Given the description of an element on the screen output the (x, y) to click on. 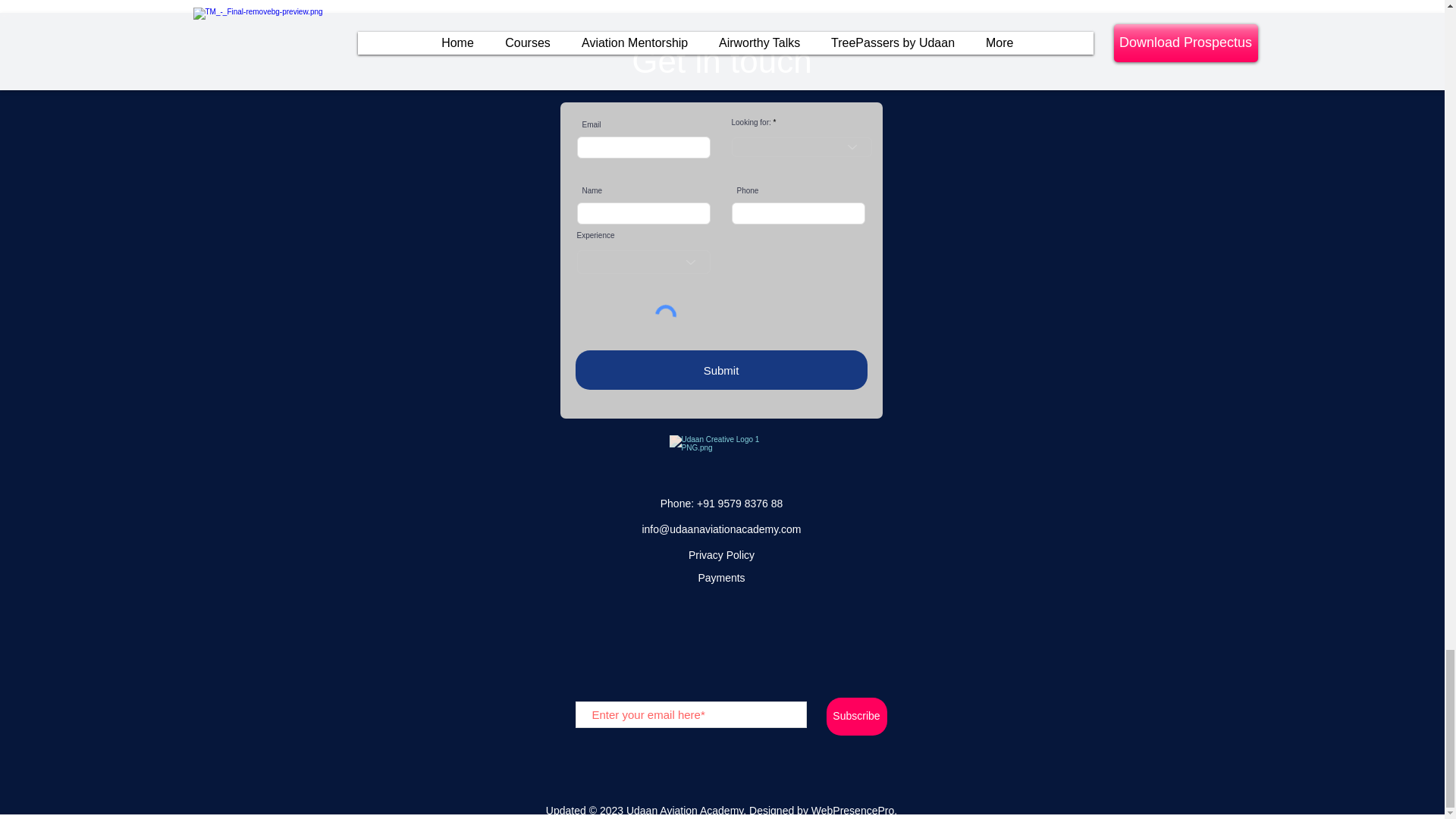
Subscribe (856, 716)
Payments (720, 577)
Privacy Policy (721, 554)
Submit (720, 369)
With Solid Black Background.jpg (720, 457)
